Given the description of an element on the screen output the (x, y) to click on. 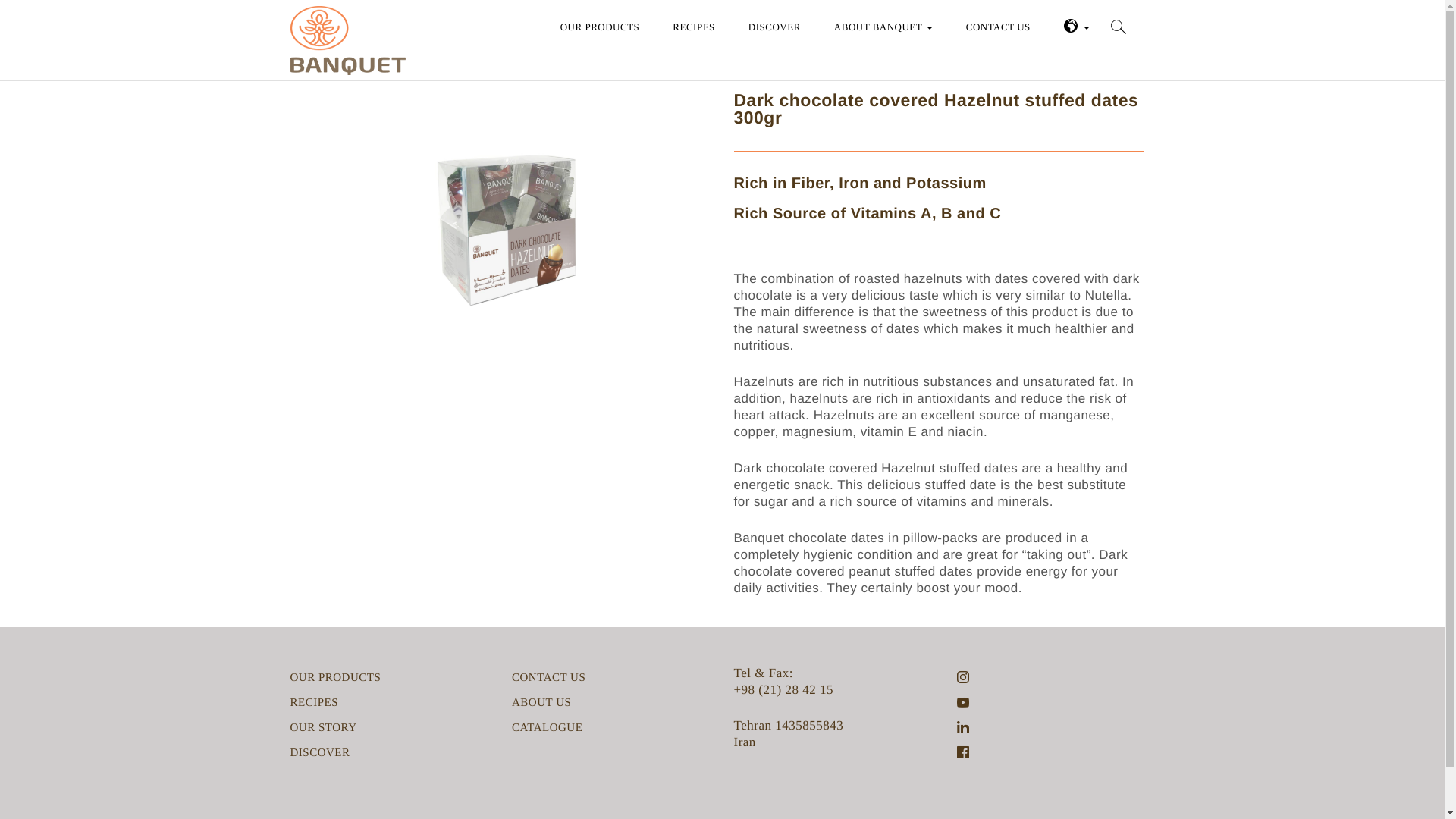
DISCOVER (319, 752)
DISCOVER (774, 25)
OUR STORY (322, 727)
DISCOVER (774, 25)
CONTACT US (548, 677)
ABOUT BANQUET (883, 25)
ABOUT BANQUET (883, 25)
RECIPES (693, 25)
ABOUT US (541, 702)
CONTACT US (998, 25)
